Given the description of an element on the screen output the (x, y) to click on. 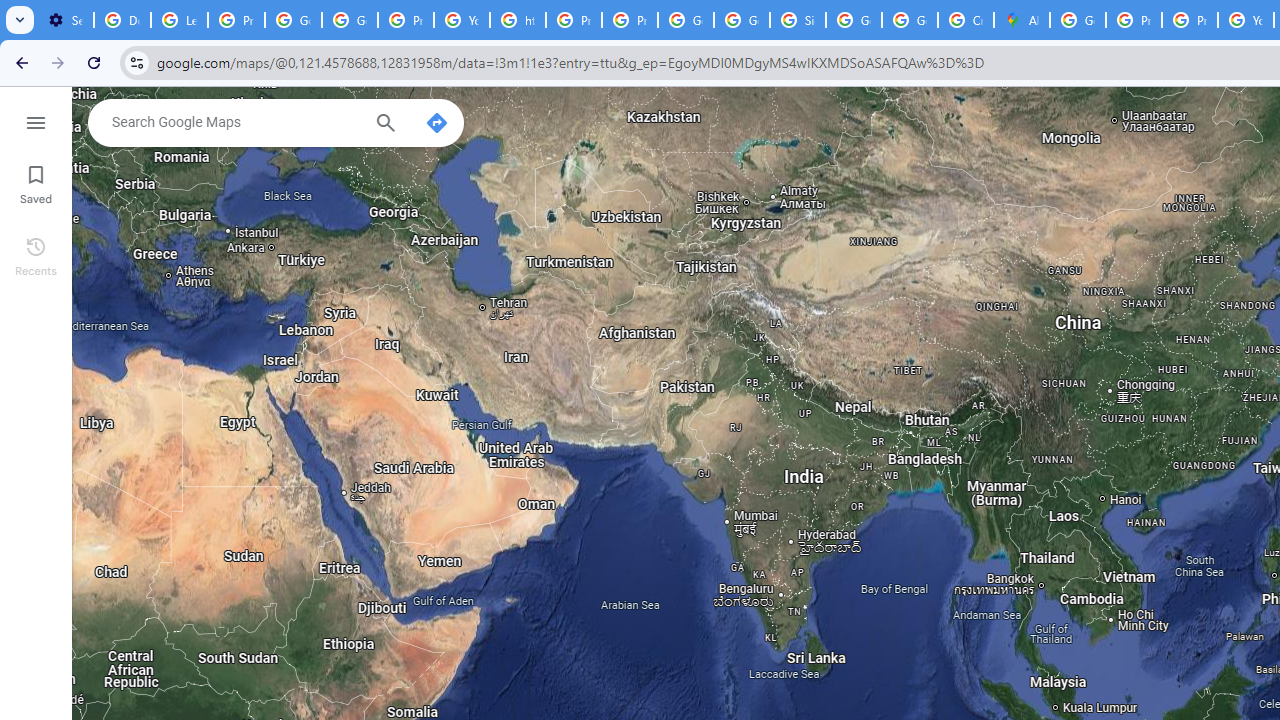
Saved (35, 182)
Search (385, 125)
Menu (35, 120)
Privacy Help Center - Policies Help (1190, 20)
YouTube (461, 20)
Directions (436, 122)
Learn how to find your photos - Google Photos Help (179, 20)
Create your Google Account (966, 20)
Privacy Help Center - Policies Help (573, 20)
Sign in - Google Accounts (797, 20)
